Given the description of an element on the screen output the (x, y) to click on. 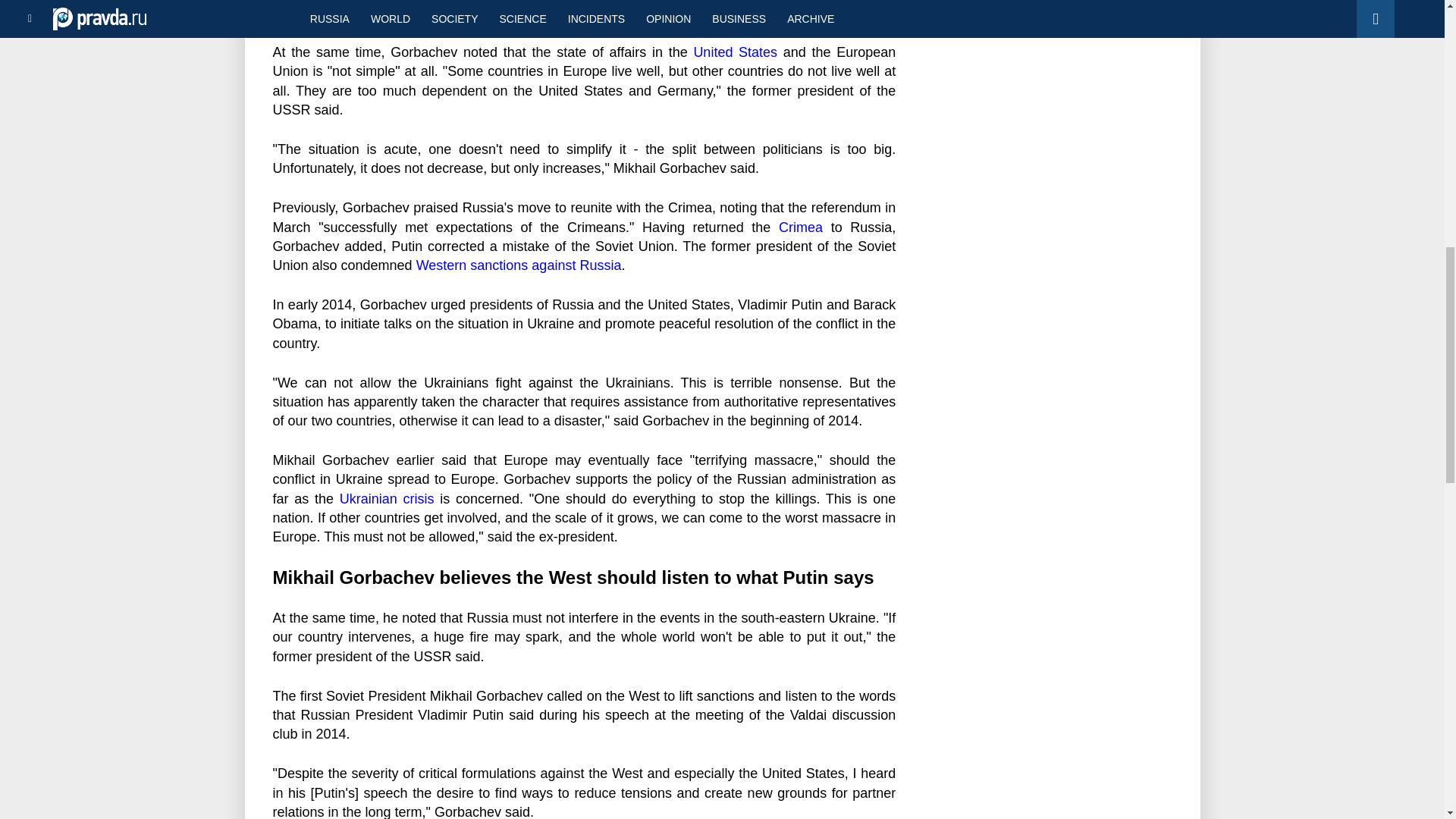
Back to top (1418, 79)
United States (735, 52)
Western sanctions against Russia (518, 264)
Crimea (800, 227)
Ukrainian crisis (386, 498)
